Given the description of an element on the screen output the (x, y) to click on. 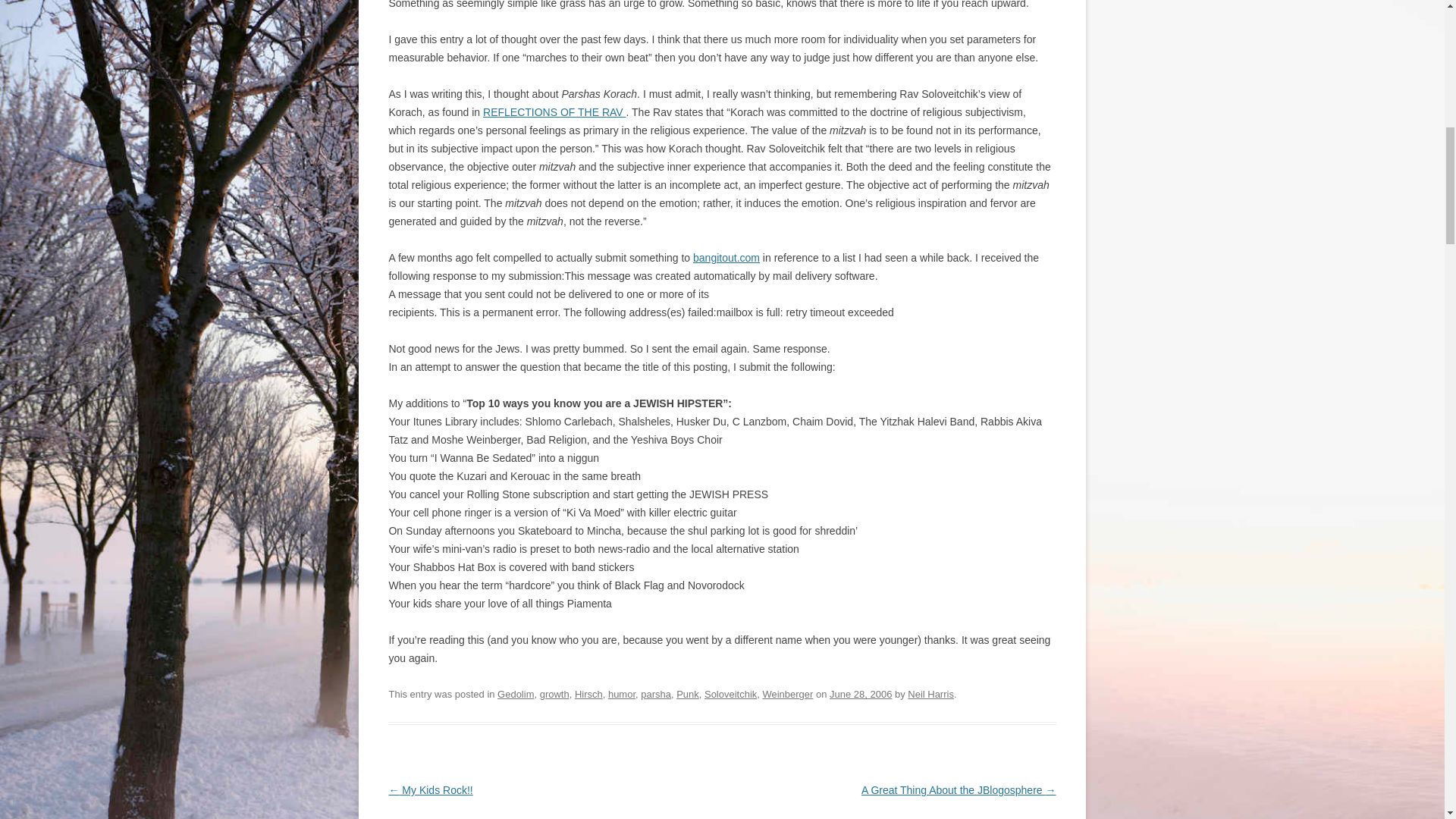
Weinberger (786, 694)
View all posts by Neil Harris (930, 694)
REFLECTIONS OF THE RAV (553, 111)
bangitout.com (726, 257)
6:41 pm (860, 694)
parsha (655, 694)
June 28, 2006 (860, 694)
Hirsch (588, 694)
growth (554, 694)
Punk (687, 694)
Neil Harris (930, 694)
Soloveitchik (730, 694)
Gedolim (515, 694)
humor (621, 694)
